Given the description of an element on the screen output the (x, y) to click on. 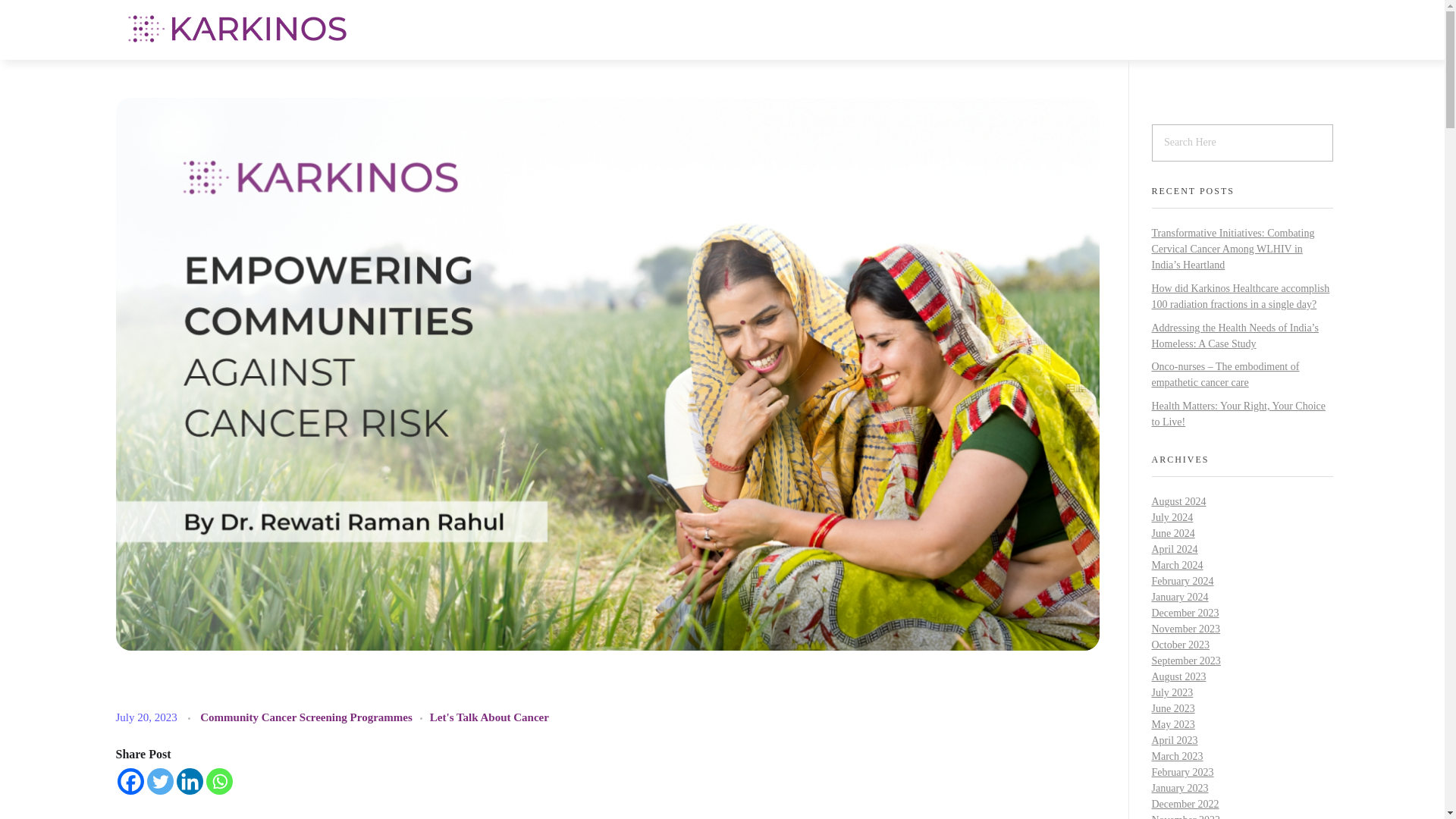
August 2024 (1178, 501)
March 2024 (1176, 564)
Karkinos Healthcare (210, 55)
Linkedin (189, 781)
Health Matters: Your Right, Your Choice to Live! (1237, 413)
View all posts in Let's Talk About Cancer (488, 717)
Community Cancer Screening Programmes (314, 717)
View all posts in Community Cancer Screening Programmes (314, 717)
Search (32, 15)
Facebook (129, 781)
